Given the description of an element on the screen output the (x, y) to click on. 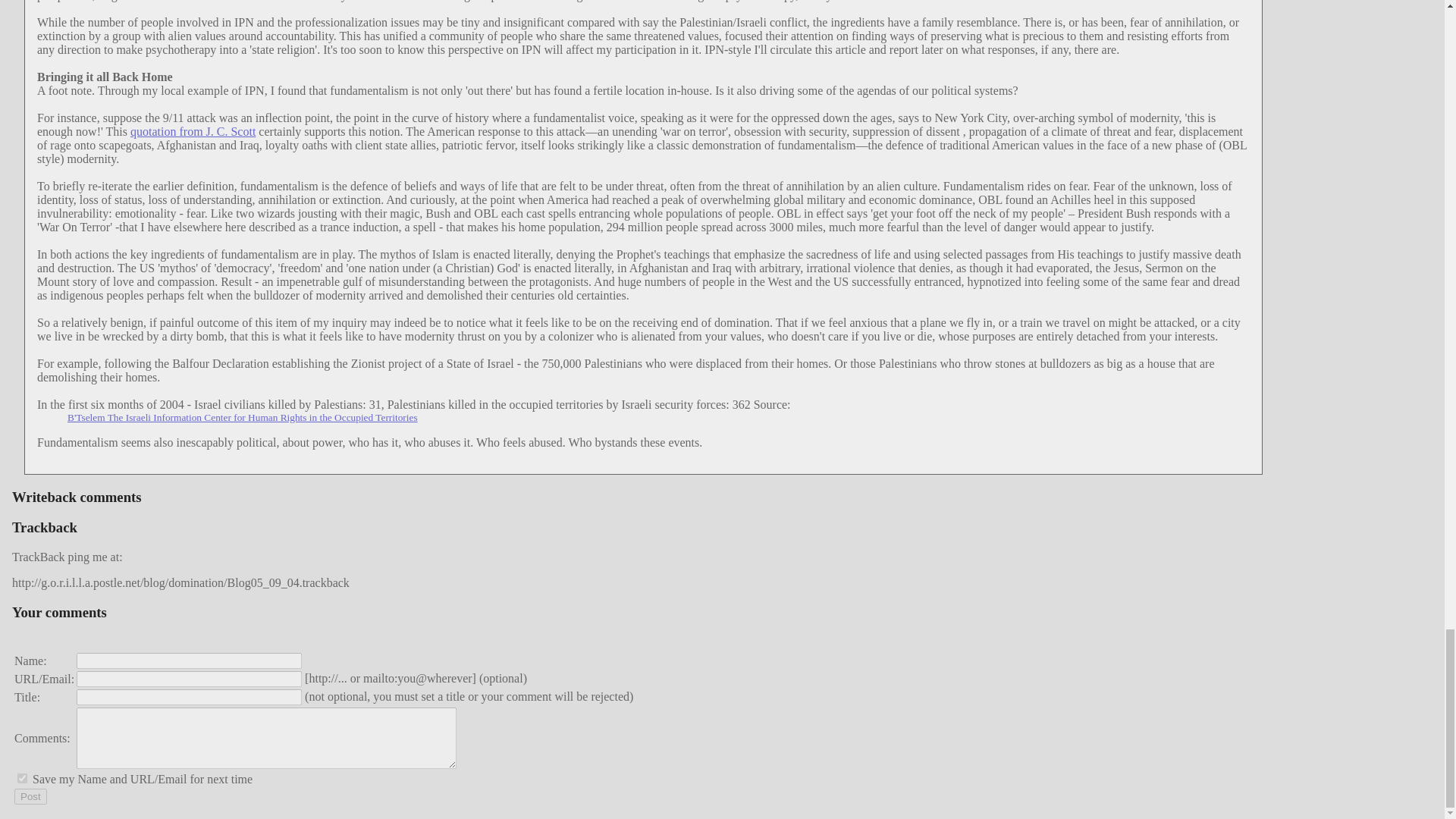
1 (22, 777)
Post (30, 796)
Post (30, 796)
quotation from J. C. Scott (193, 131)
